Given the description of an element on the screen output the (x, y) to click on. 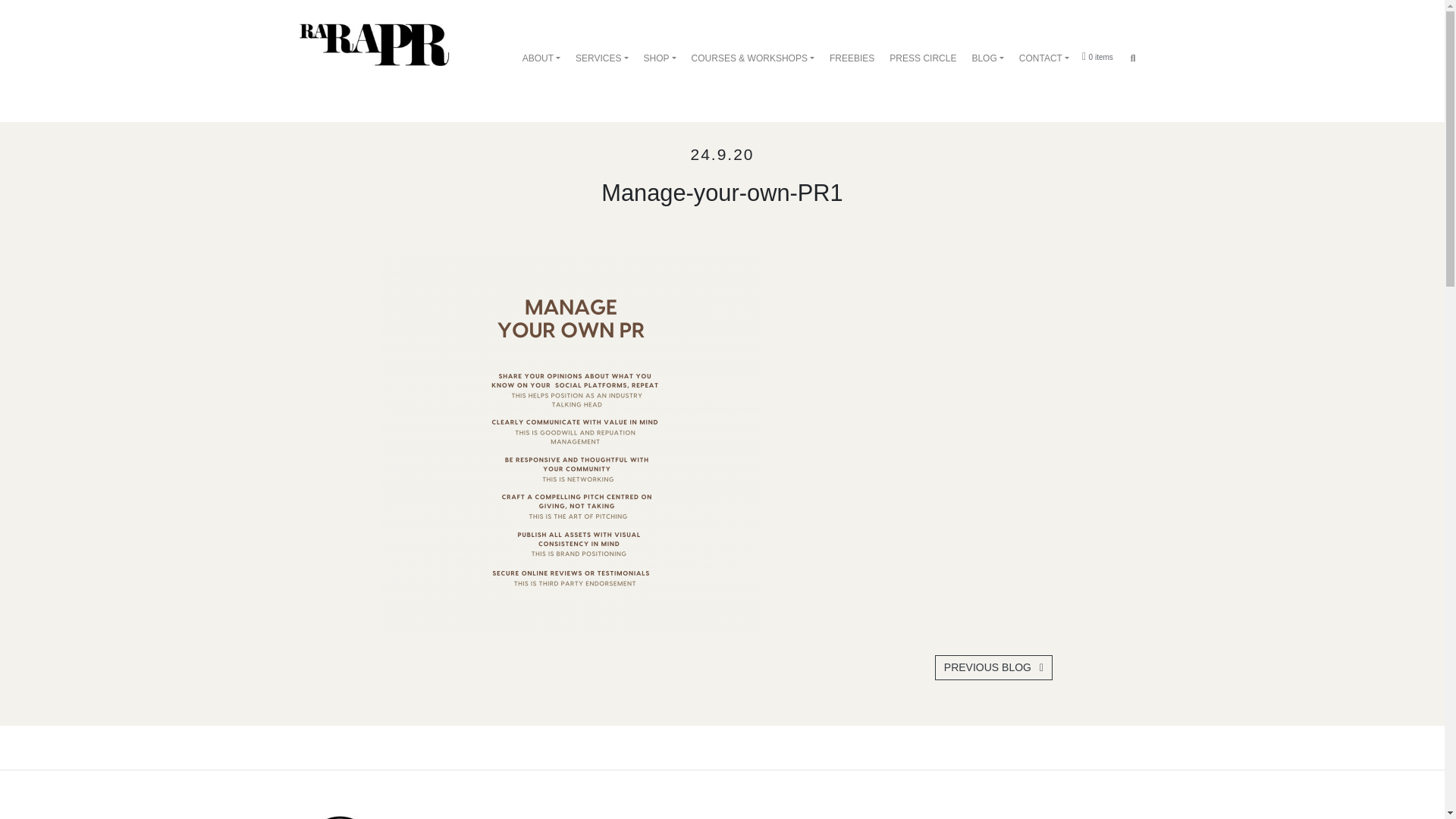
SERVICES (601, 57)
PRESS CIRCLE (921, 57)
0 items (1097, 55)
ABOUT (541, 57)
BLOG (987, 57)
FREEBIES (851, 57)
Shop (660, 57)
CONTACT (1043, 57)
SHOP (660, 57)
Services (601, 57)
About (541, 57)
